Given the description of an element on the screen output the (x, y) to click on. 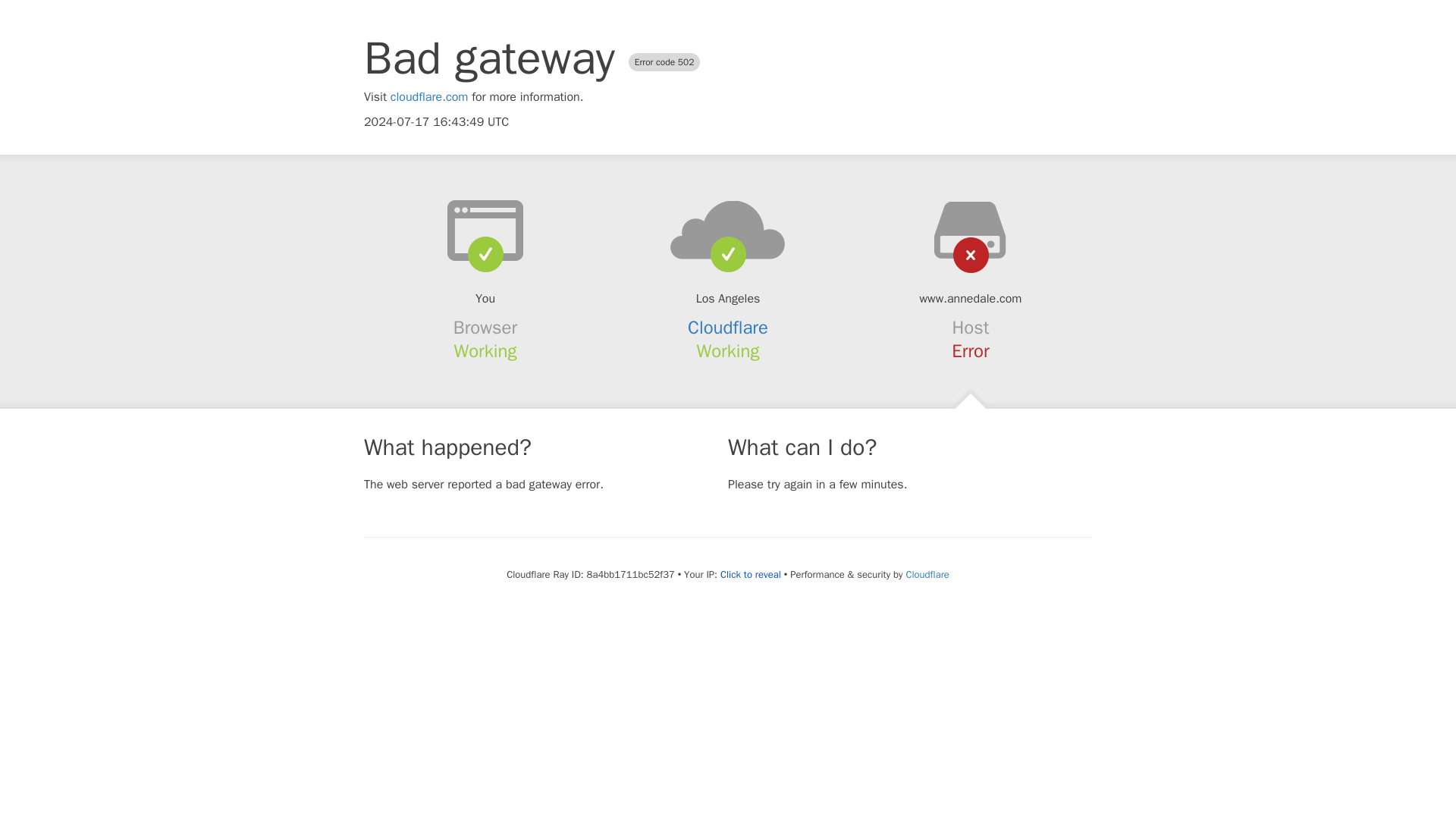
Cloudflare (927, 574)
cloudflare.com (429, 96)
Cloudflare (727, 327)
Click to reveal (750, 574)
